Given the description of an element on the screen output the (x, y) to click on. 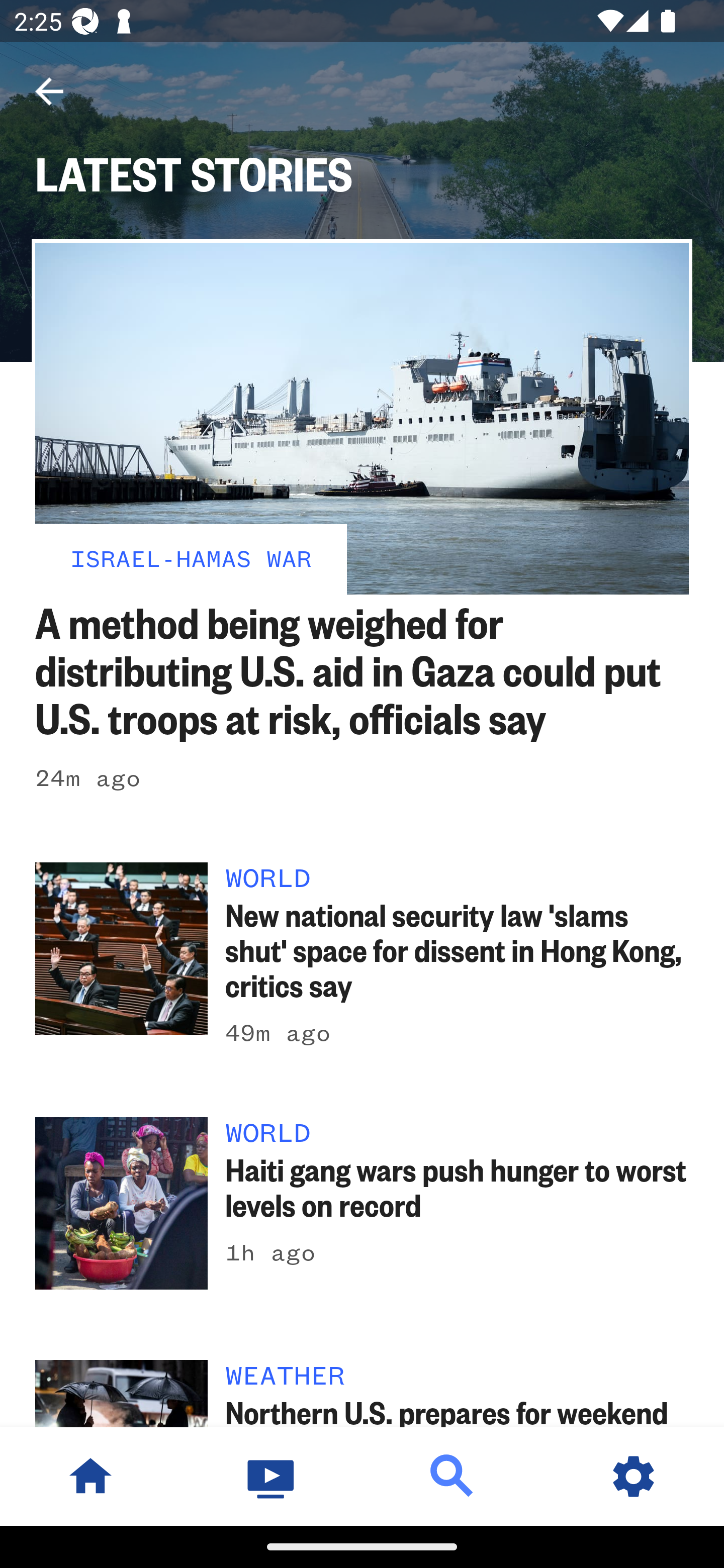
Navigate up (49, 91)
NBC News Home (90, 1475)
Watch (271, 1475)
Settings (633, 1475)
